Given the description of an element on the screen output the (x, y) to click on. 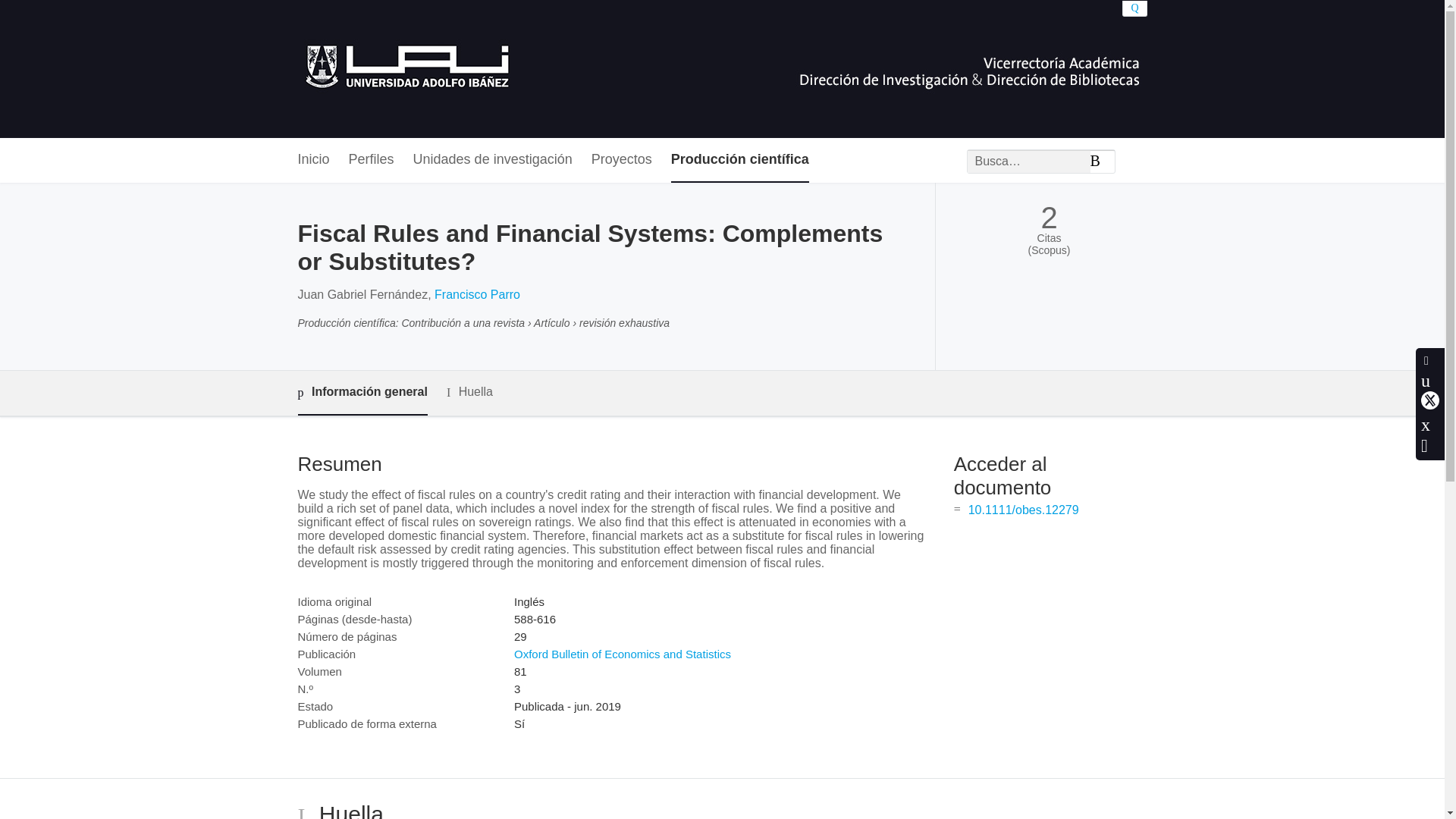
Oxford Bulletin of Economics and Statistics (621, 653)
Proyectos (621, 160)
Francisco Parro (476, 294)
Huella (469, 392)
Perfiles (371, 160)
